Given the description of an element on the screen output the (x, y) to click on. 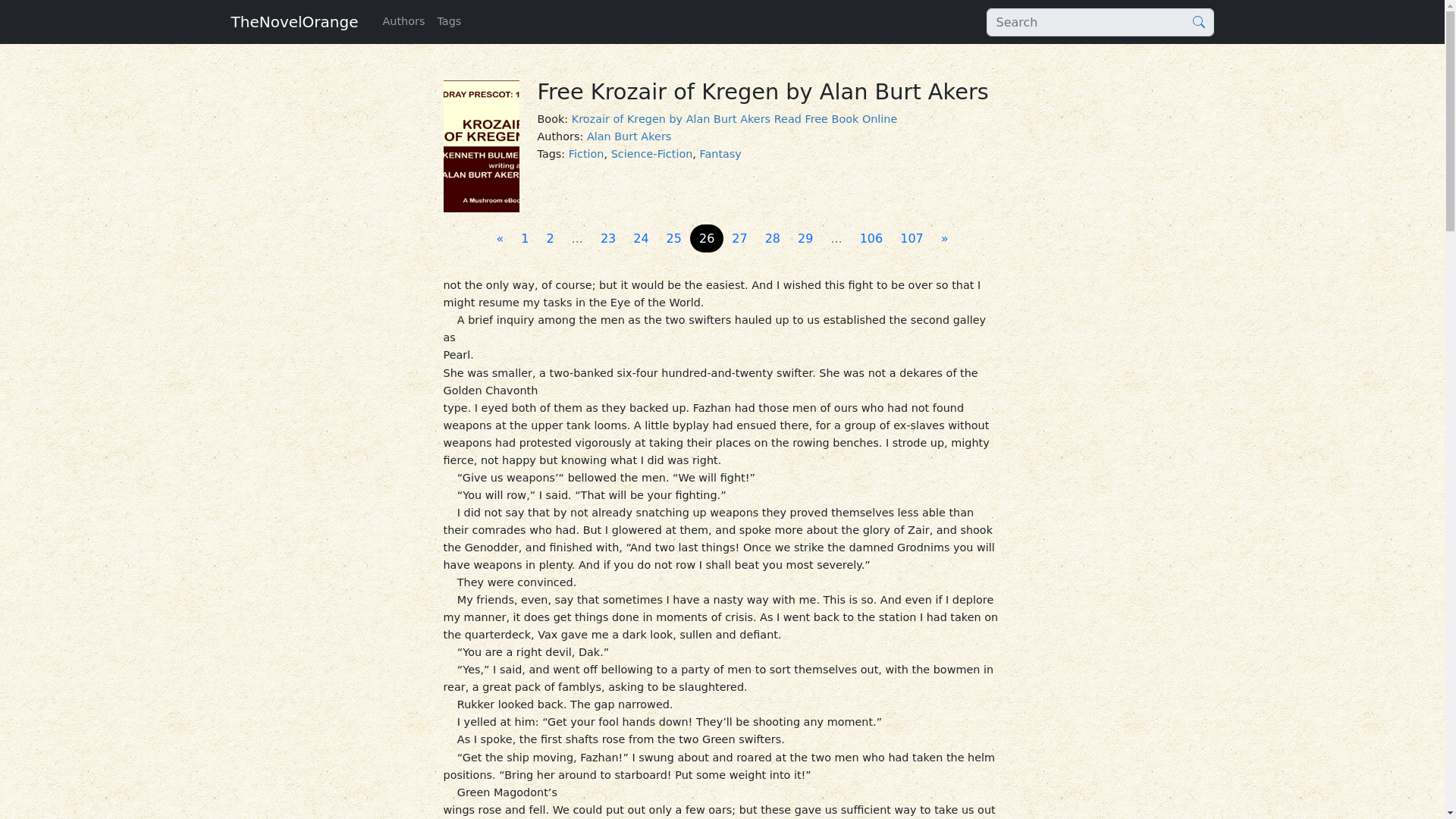
23 (607, 238)
Fantasy (719, 153)
2 (549, 238)
Alan Burt Akers (628, 136)
Tags (448, 21)
Science-Fiction (652, 153)
106 (871, 238)
29 (805, 238)
107 (912, 238)
Krozair of Kregen by Alan Burt Akers Read Free Book Online (735, 119)
28 (772, 238)
1 (524, 238)
Authors (402, 21)
... (835, 238)
24 (641, 238)
